Given the description of an element on the screen output the (x, y) to click on. 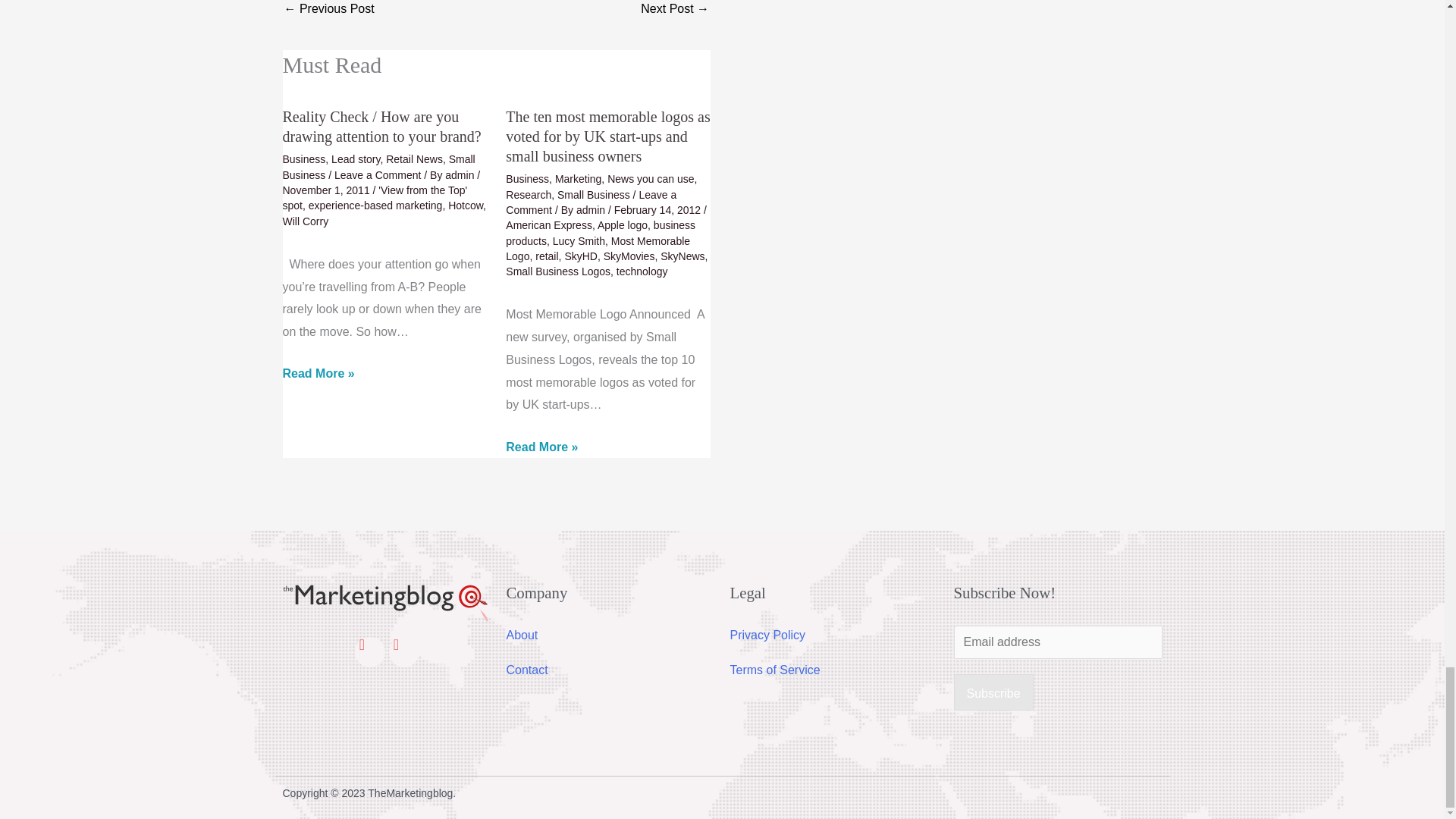
View all posts by admin (592, 209)
View all posts by admin (461, 174)
How to Develop an SEO Strategy for Your SMB (674, 12)
